Given the description of an element on the screen output the (x, y) to click on. 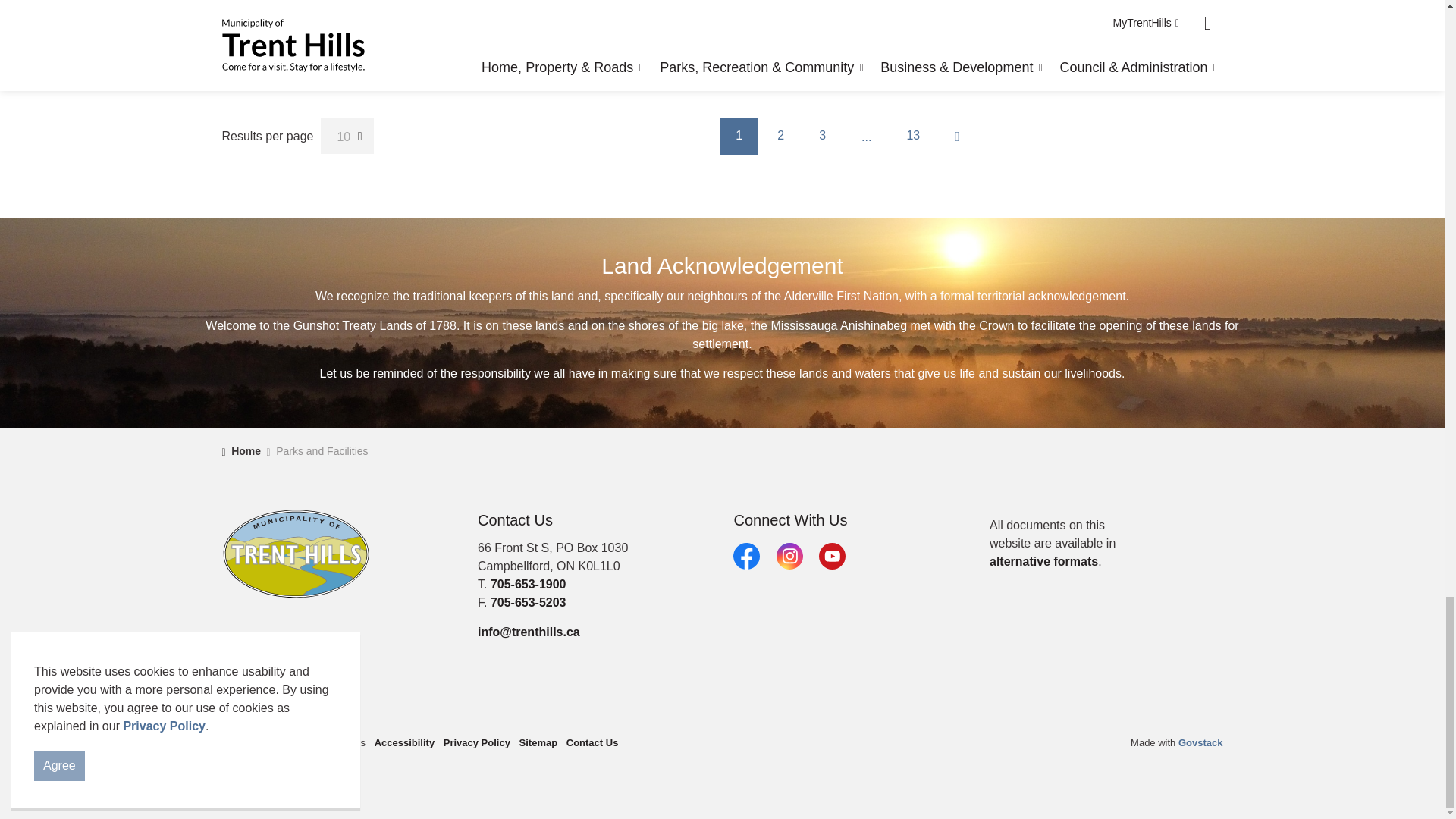
Next (957, 136)
Fax Us (528, 602)
Call Us (528, 584)
